Given the description of an element on the screen output the (x, y) to click on. 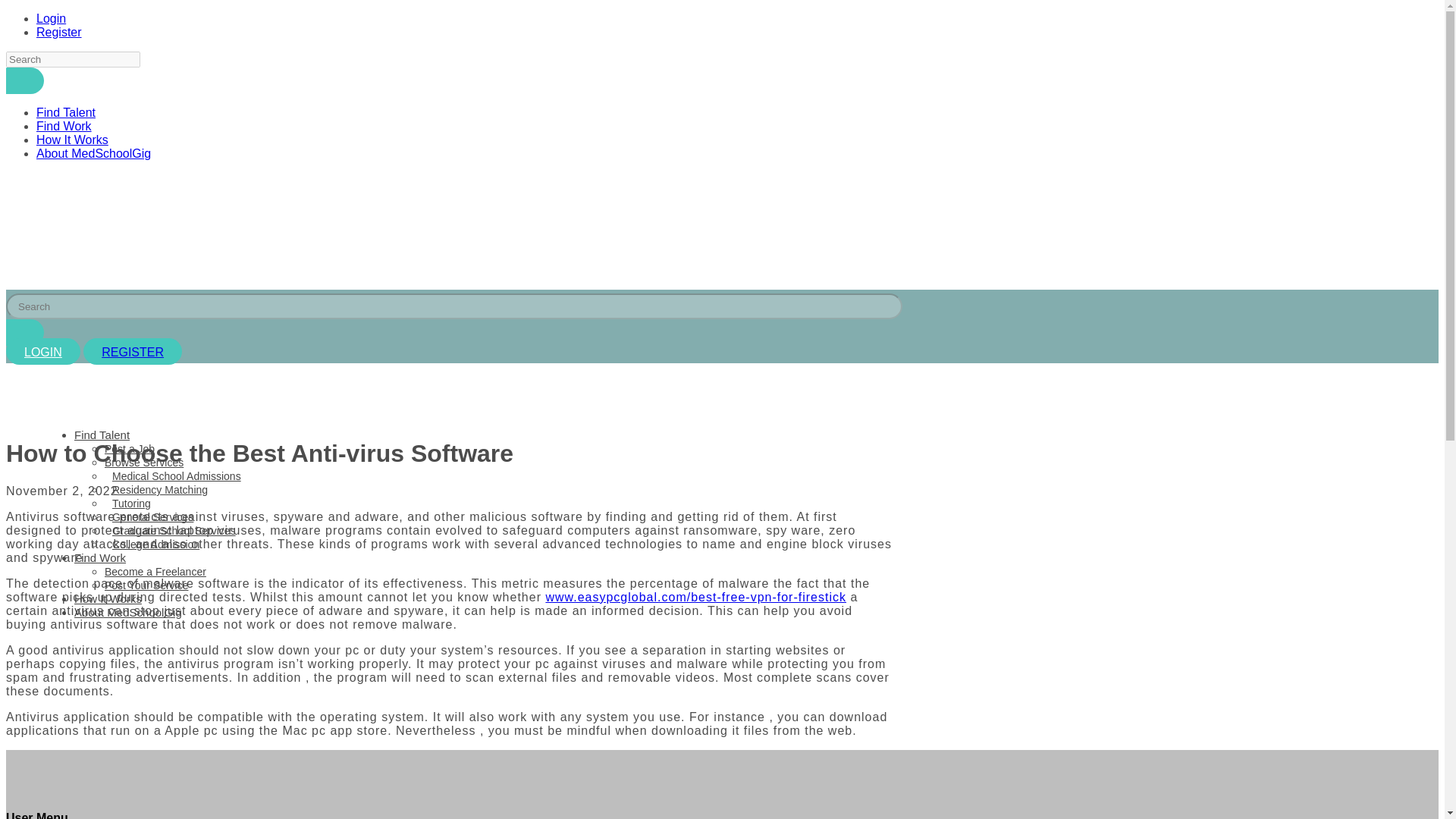
Register (58, 31)
General Services (148, 517)
Find Work (63, 125)
Login (50, 18)
College Admission (151, 544)
Find Talent (101, 434)
How It Works (71, 139)
How It Works (107, 598)
REGISTER (132, 351)
Post Your Service (146, 585)
